Given the description of an element on the screen output the (x, y) to click on. 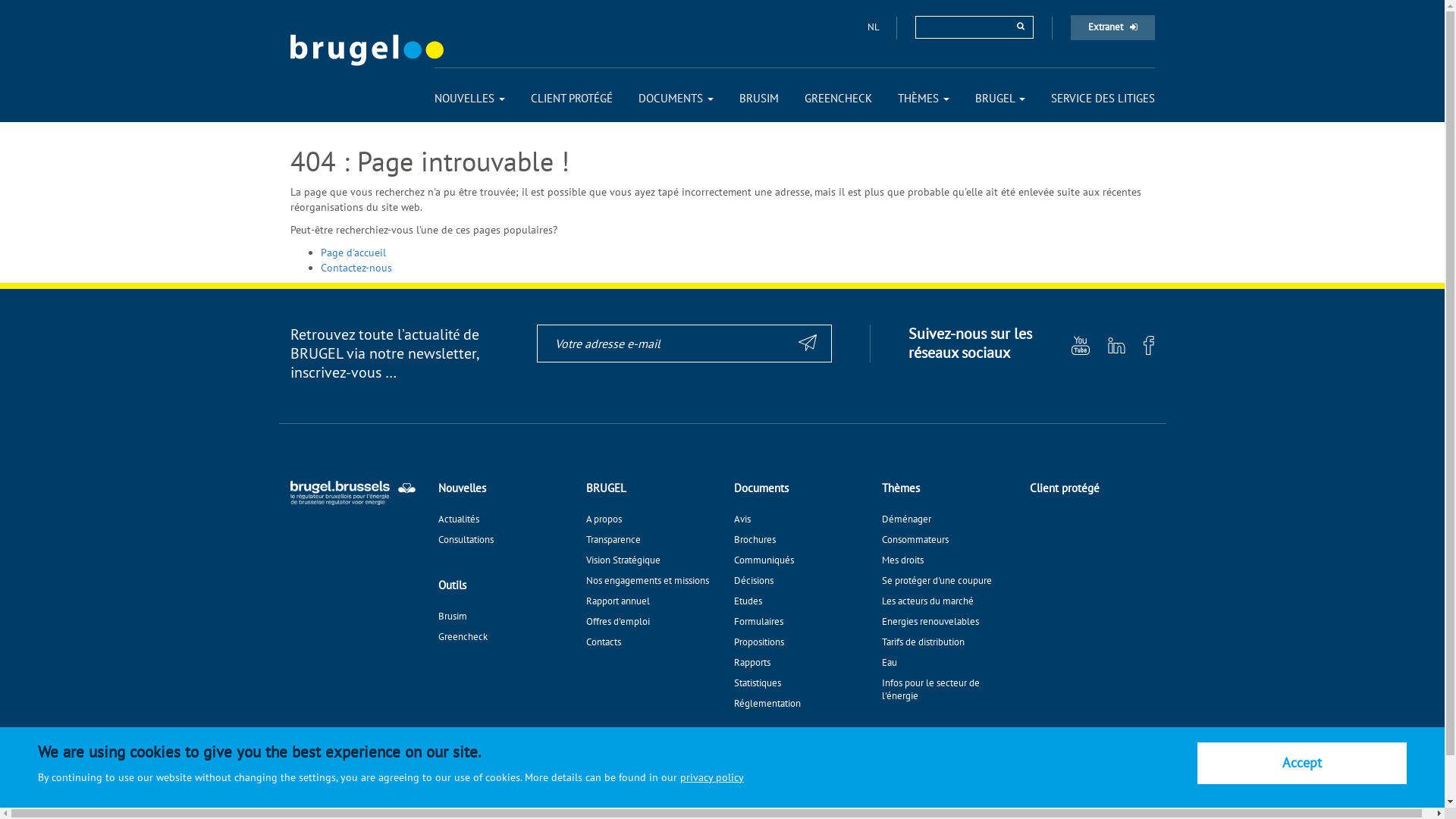
Formulaires Element type: text (758, 621)
Statistiques Element type: text (757, 682)
NOUVELLES Element type: text (468, 98)
Nos engagements et missions Element type: text (646, 580)
Page d'accueil Element type: text (352, 252)
Contactez-nous Element type: text (355, 267)
Transparence Element type: text (612, 539)
Avis Element type: text (742, 518)
Greencheck Element type: text (462, 636)
DOCUMENTS Element type: text (675, 98)
Rapport annuel Element type: text (617, 600)
Transparence Element type: text (535, 747)
Etudes Element type: text (748, 600)
A propos Element type: text (603, 518)
Propositions Element type: text (759, 641)
Tarifs de distribution Element type: text (922, 641)
NL Element type: text (874, 26)
Contacts Element type: text (602, 641)
BRUGEL Element type: text (1000, 98)
Mes droits Element type: text (901, 559)
Consultations Element type: text (465, 539)
Privacy Element type: text (478, 747)
Energies renouvelables Element type: text (929, 621)
Eau Element type: text (888, 661)
Accept Element type: text (1301, 763)
SERVICE DES LITIGES Element type: text (1102, 98)
Offres d'emploi Element type: text (617, 621)
Brochures Element type: text (754, 539)
Consommateurs Element type: text (914, 539)
Rapports Element type: text (752, 661)
GREENCHECK Element type: text (837, 98)
BRUSIM Element type: text (758, 98)
privacy policy Element type: text (711, 777)
Extranet Element type: text (1112, 27)
Documents Element type: text (761, 487)
Brusim Element type: text (452, 615)
